Given the description of an element on the screen output the (x, y) to click on. 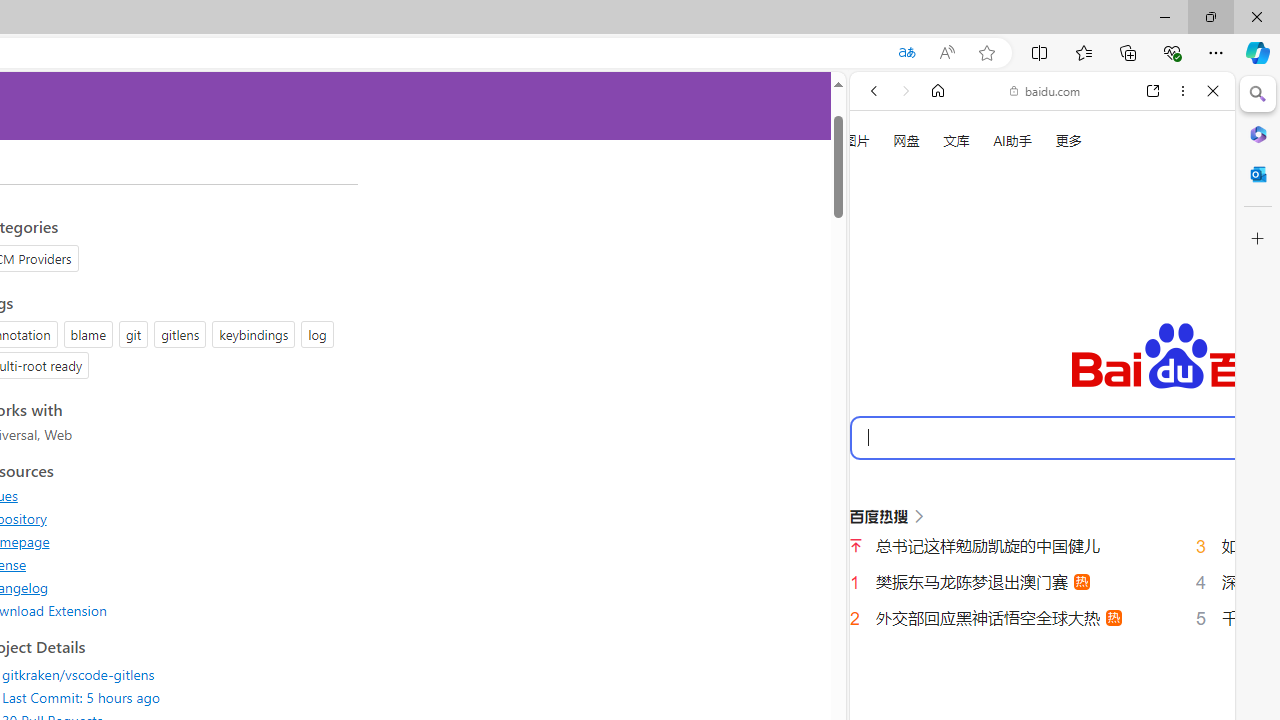
Web scope (882, 180)
Outlook (1258, 174)
This site scope (936, 180)
English (US) (1042, 579)
IMAGES (939, 339)
Forward (906, 91)
Search Filter, VIDEOS (1006, 339)
VIDEOS (1006, 339)
Class: b_serphb (1190, 339)
Search Filter, Search Tools (1093, 339)
